Given the description of an element on the screen output the (x, y) to click on. 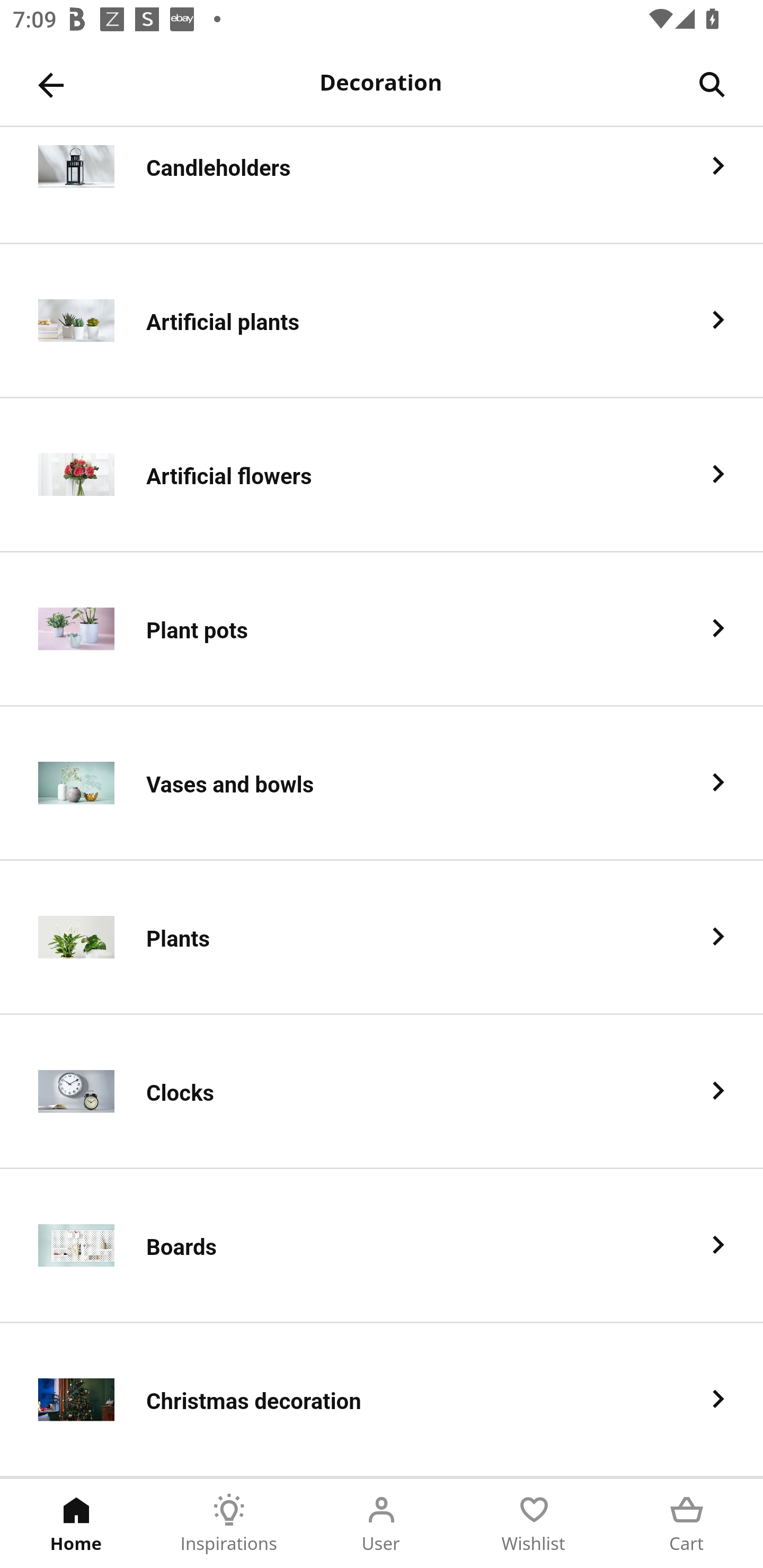
Candleholders (381, 185)
Artificial plants (381, 321)
Artificial flowers (381, 474)
Plant pots (381, 629)
Vases and bowls (381, 783)
Plants (381, 937)
Clocks (381, 1091)
Boards (381, 1246)
Christmas decoration (381, 1400)
Home
Tab 1 of 5 (76, 1522)
Inspirations
Tab 2 of 5 (228, 1522)
User
Tab 3 of 5 (381, 1522)
Wishlist
Tab 4 of 5 (533, 1522)
Cart
Tab 5 of 5 (686, 1522)
